Given the description of an element on the screen output the (x, y) to click on. 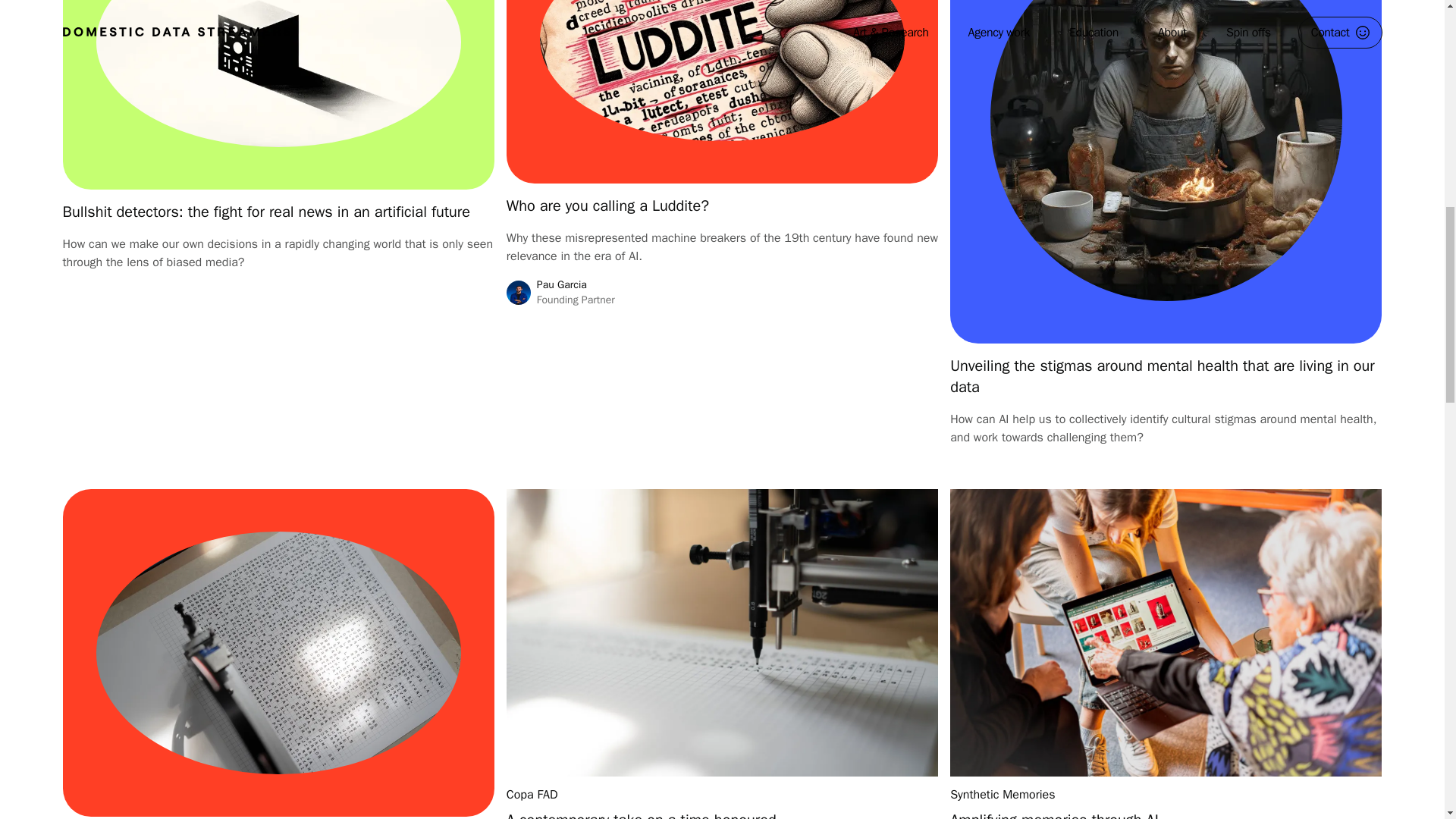
Who are you calling a Luddite? (607, 205)
